Given the description of an element on the screen output the (x, y) to click on. 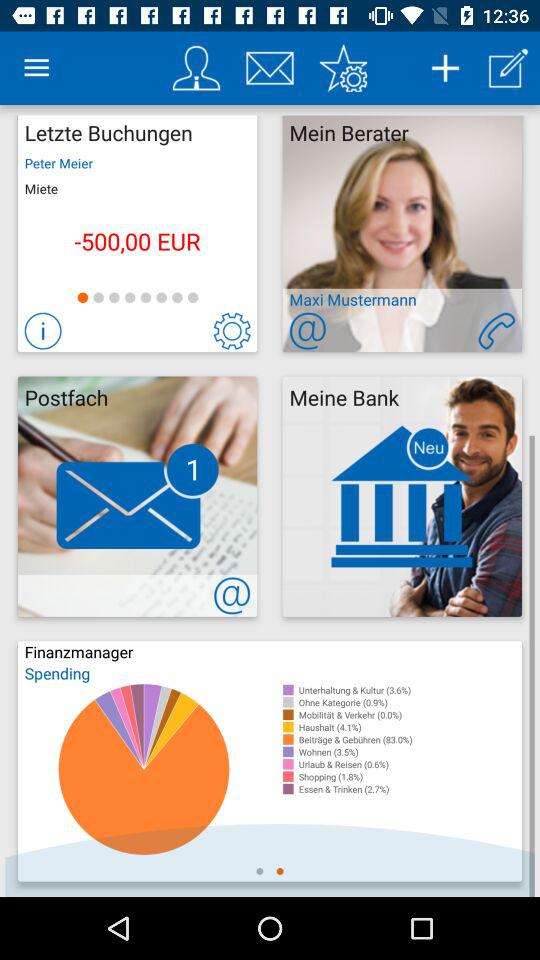
send an email (307, 330)
